Given the description of an element on the screen output the (x, y) to click on. 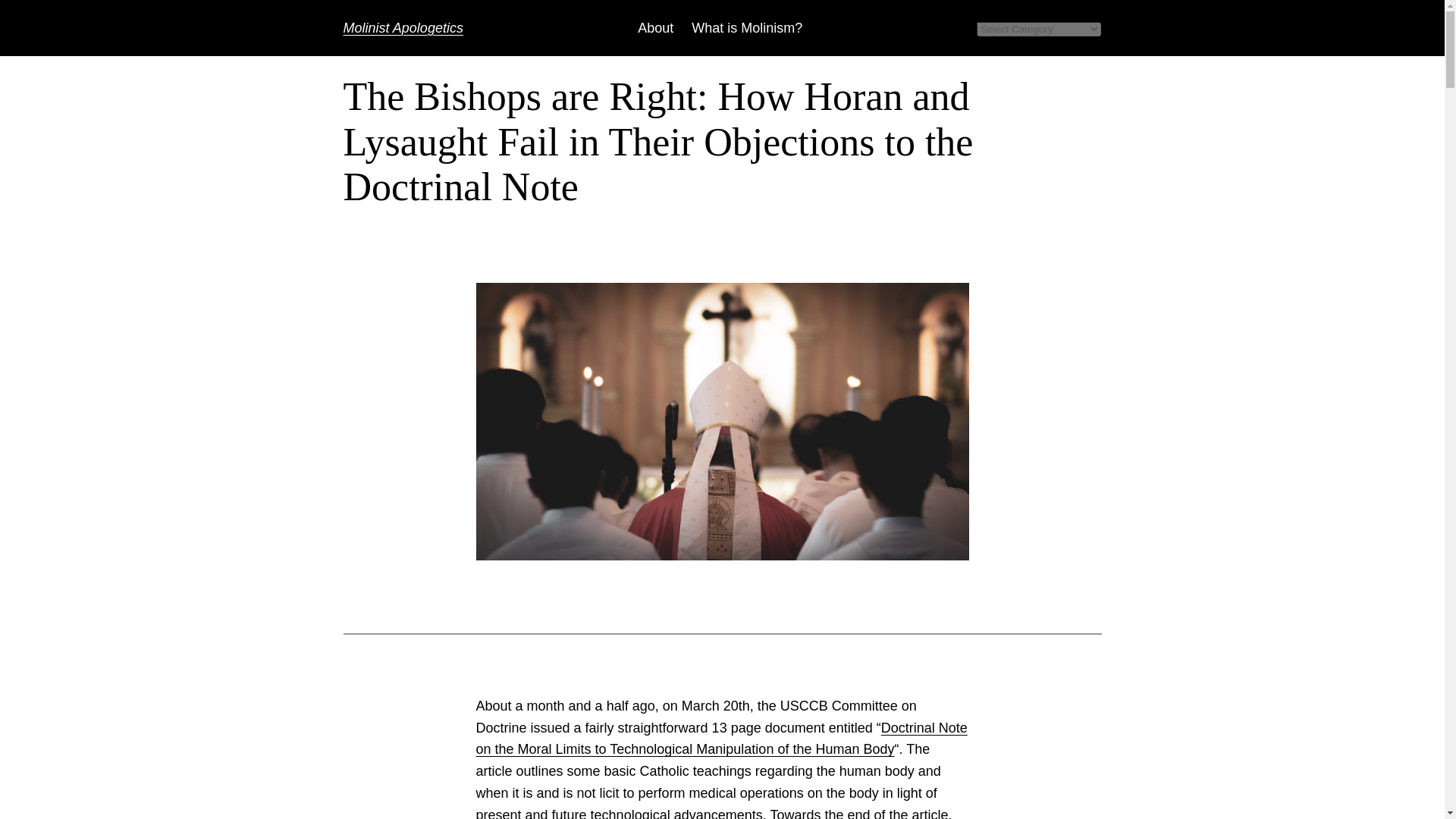
What is Molinism? (746, 27)
About (654, 27)
Molinist Apologetics (402, 27)
